Given the description of an element on the screen output the (x, y) to click on. 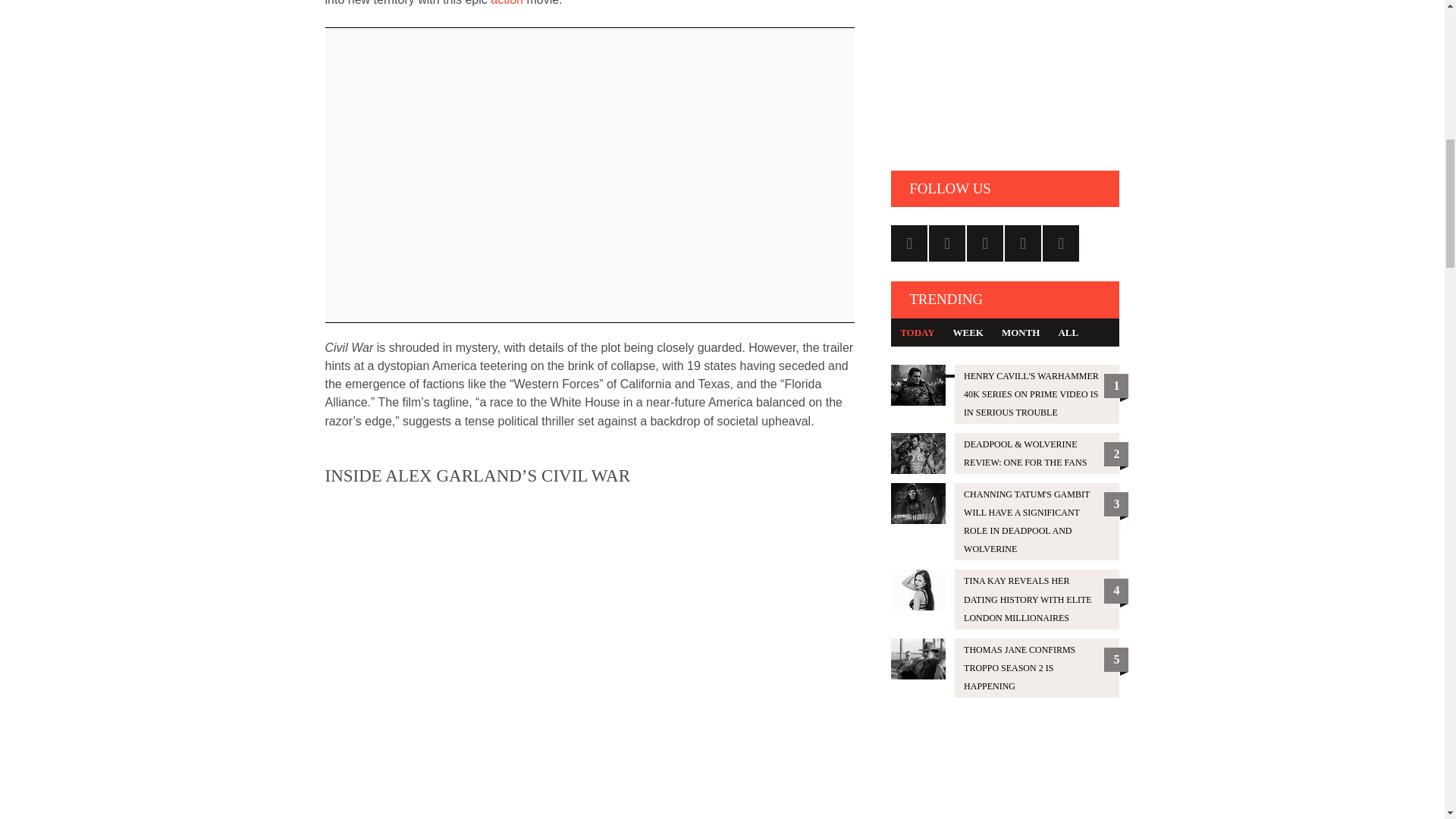
Thomas Jane Confirms Troppo Season 2 Is Happening (1005, 667)
